Given the description of an element on the screen output the (x, y) to click on. 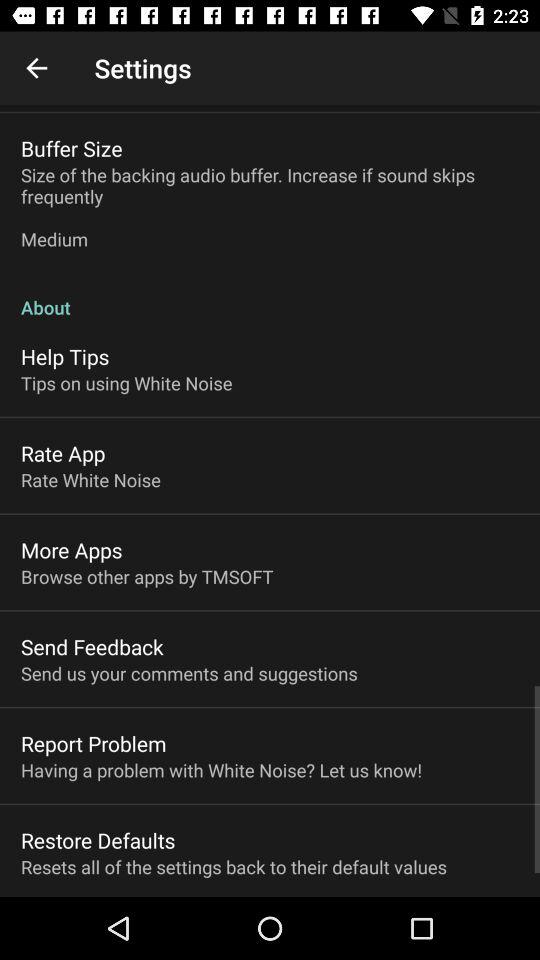
press item above the buffer size item (36, 68)
